Given the description of an element on the screen output the (x, y) to click on. 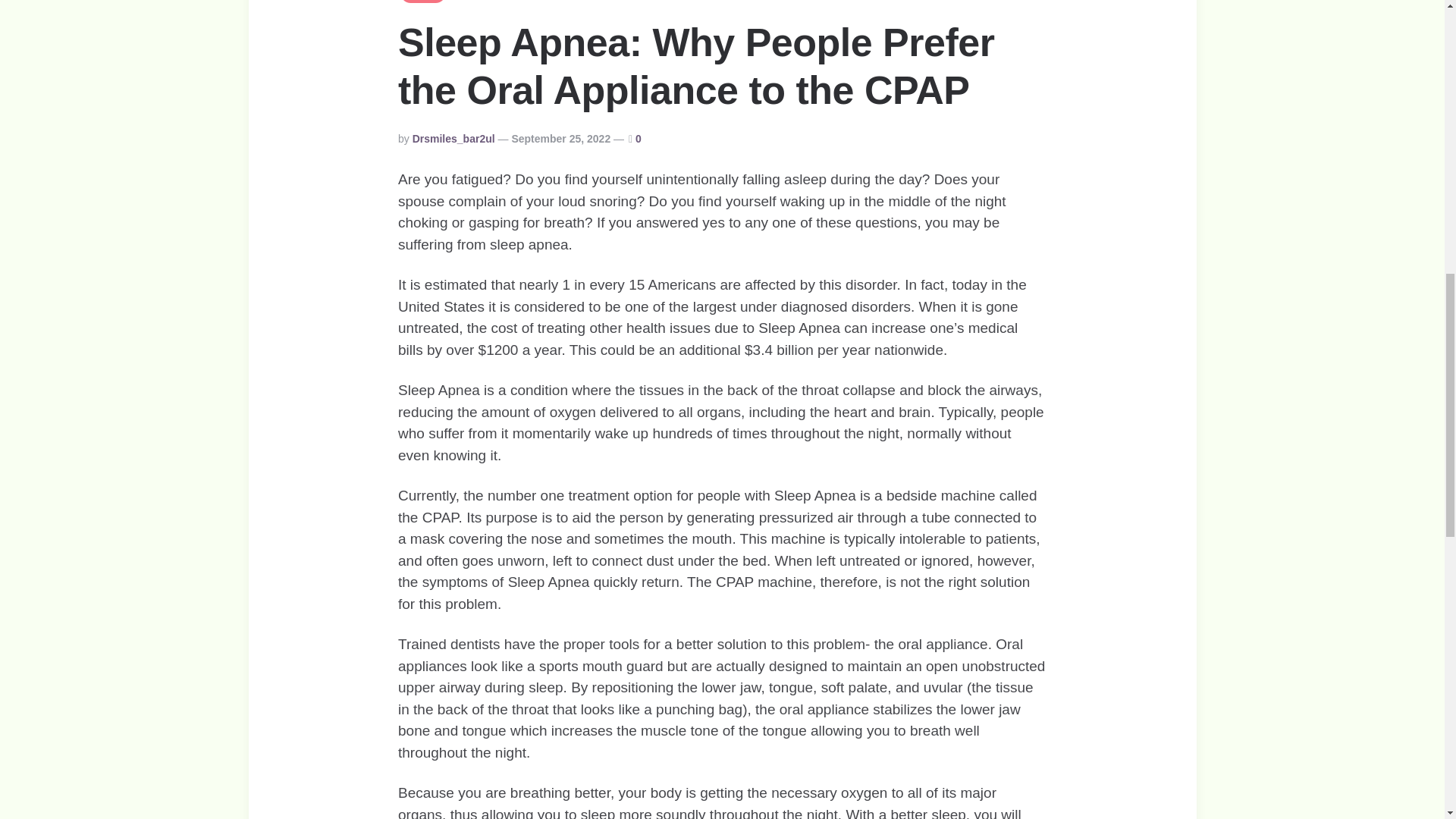
Dental (422, 1)
